Given the description of an element on the screen output the (x, y) to click on. 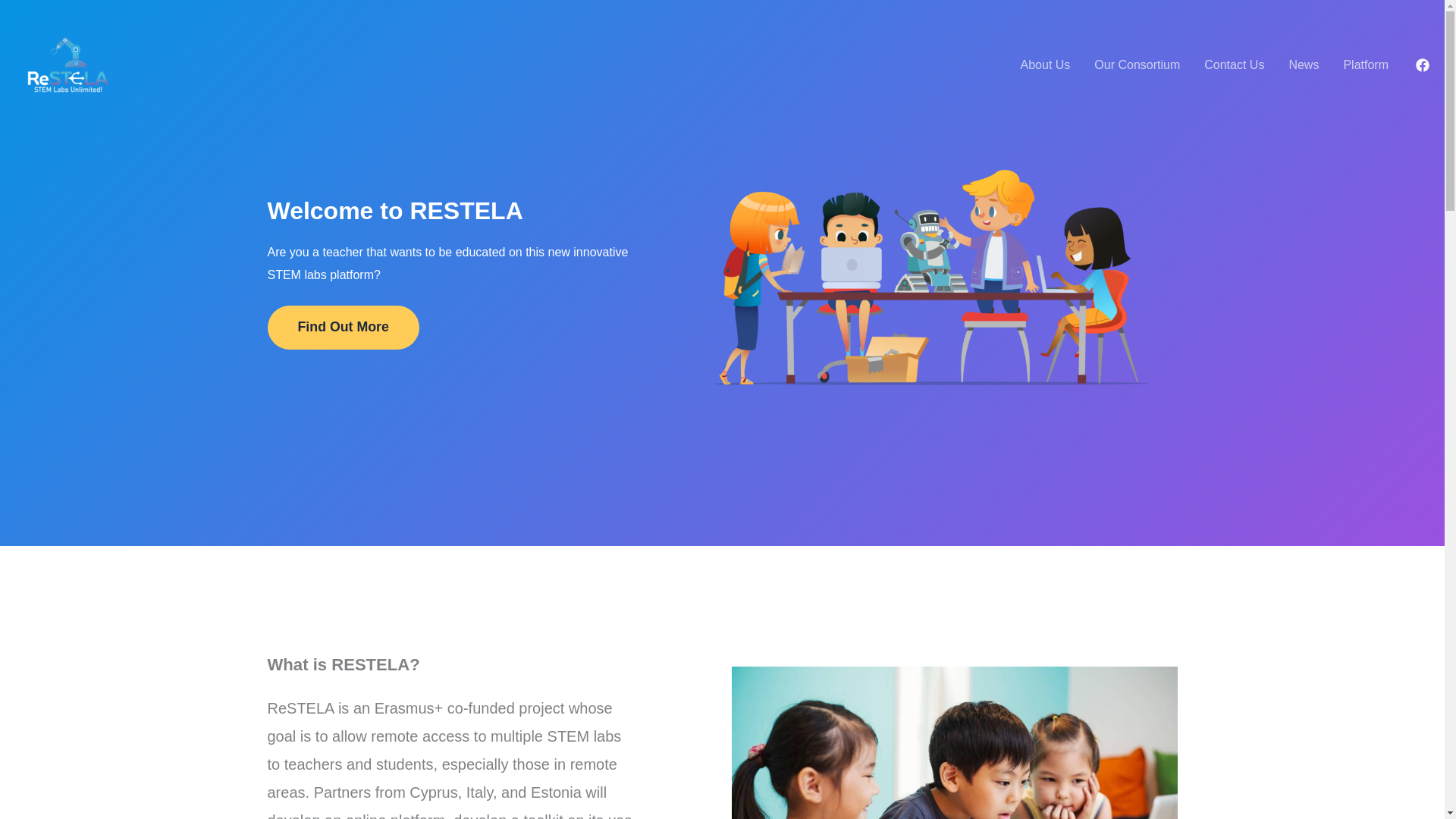
About Us (1046, 64)
Contact Us (1234, 64)
Find Out More (342, 327)
Our Consortium (1136, 64)
